Given the description of an element on the screen output the (x, y) to click on. 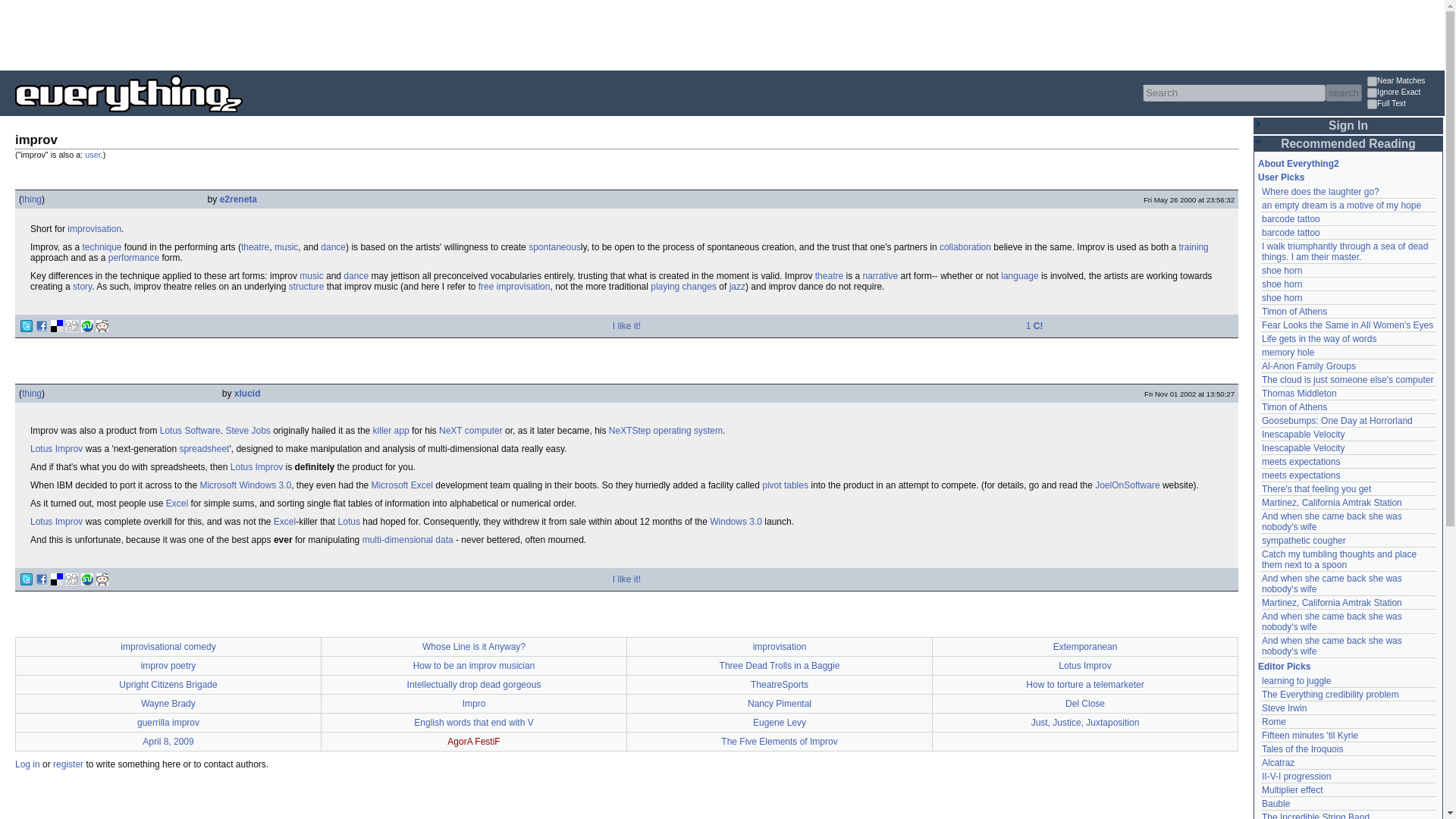
search (1342, 92)
narrative (879, 276)
music (286, 246)
music (311, 276)
theatre (255, 246)
May 26 2000 at 23:56:32 (1188, 199)
performance (132, 257)
dance (355, 276)
Search for text within writeups (1404, 104)
technique (100, 246)
